Given the description of an element on the screen output the (x, y) to click on. 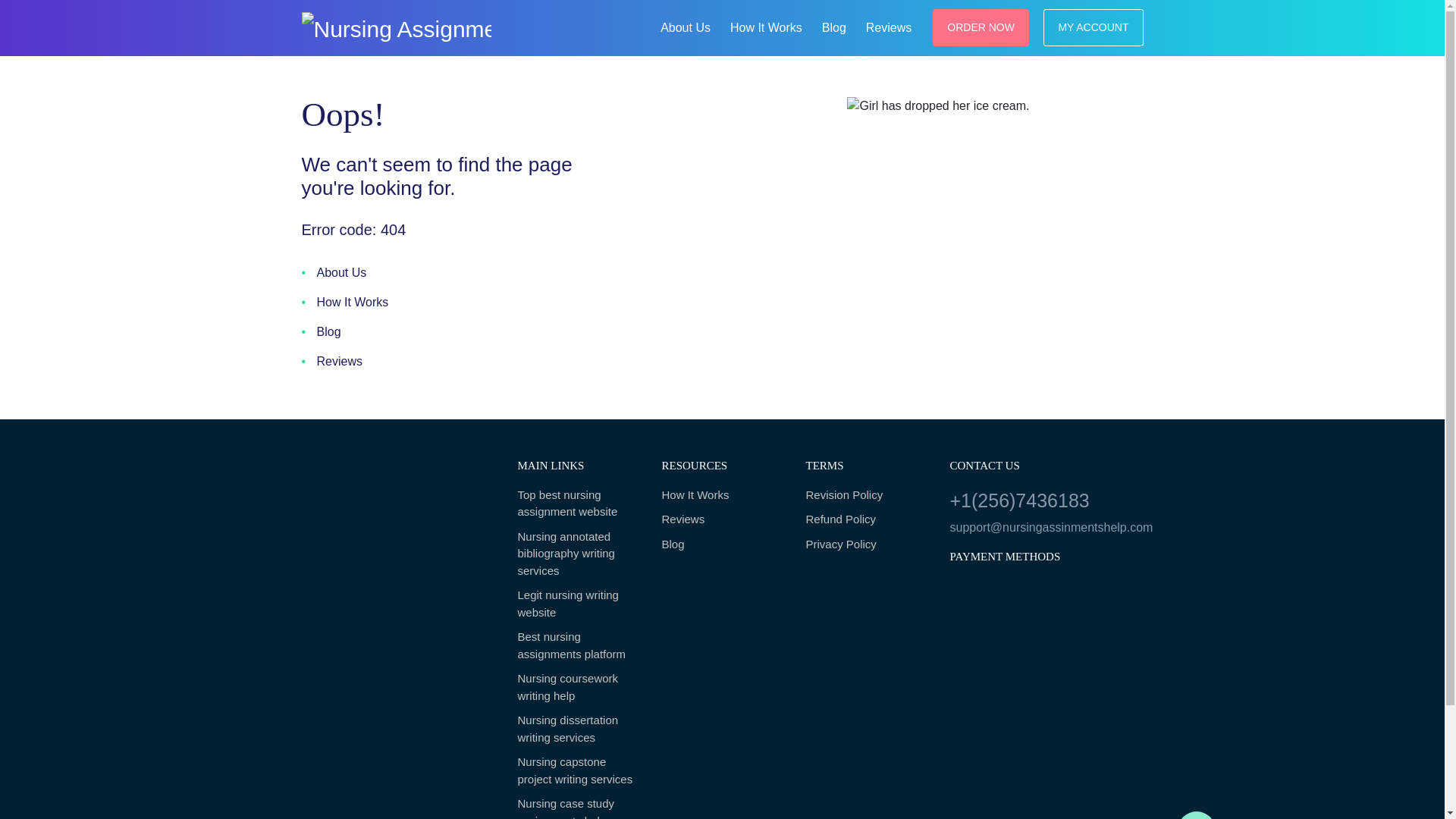
Nursing coursework writing help (577, 687)
Reviews (722, 519)
How It Works (765, 25)
Blog (320, 331)
Blog (833, 25)
Blog (833, 25)
Reviews (888, 25)
How It Works (765, 25)
Nursing annotated bibliography writing services (577, 553)
About Us (684, 25)
